Given the description of an element on the screen output the (x, y) to click on. 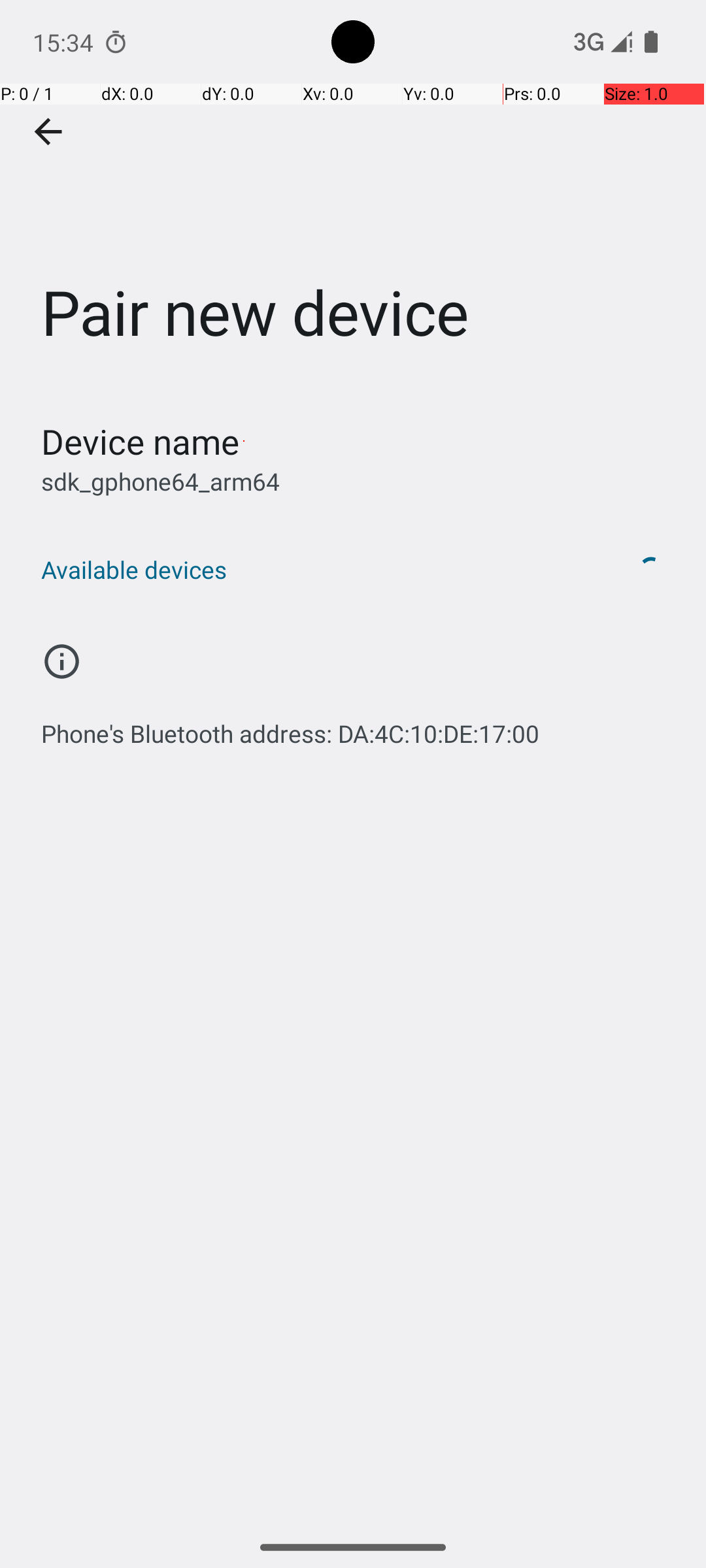
Available devices Element type: android.widget.TextView (318, 569)
Phone's Bluetooth address: DA:4C:10:DE:17:00 Element type: android.widget.TextView (290, 726)
